Given the description of an element on the screen output the (x, y) to click on. 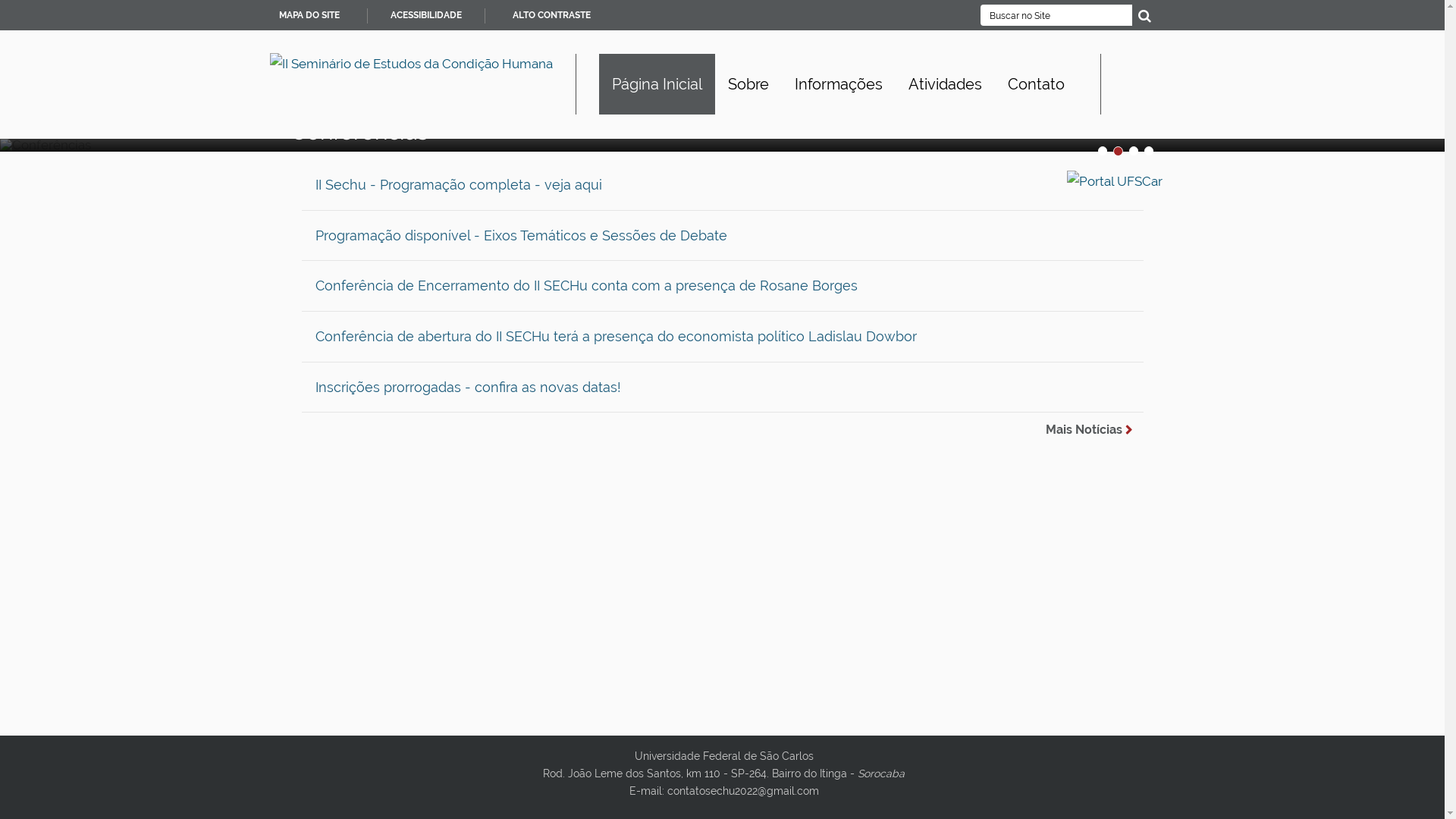
Portal UFSCar Element type: hover (1113, 179)
Atividades Element type: text (944, 83)
MAPA DO SITE Element type: text (309, 14)
Contato Element type: text (1035, 83)
ACESSIBILIDADE Element type: text (425, 14)
Sobre Element type: text (747, 83)
ALTO CONTRASTE Element type: text (551, 14)
Buscar no Site Element type: hover (1055, 14)
